Given the description of an element on the screen output the (x, y) to click on. 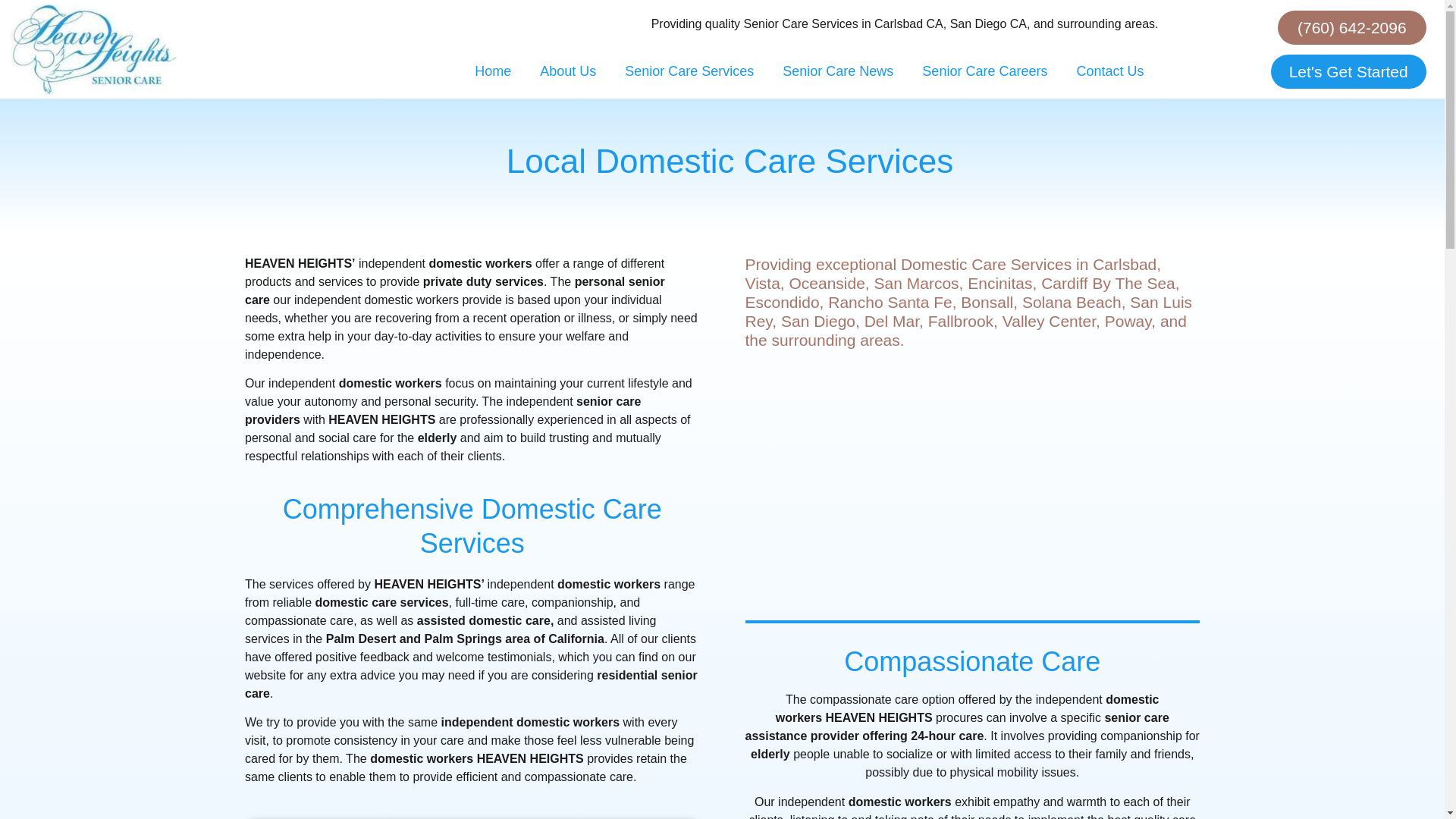
About Us (567, 70)
Let's Get Started (1348, 71)
Home (492, 70)
Senior Care Careers (984, 70)
Contact Us (1109, 70)
Senior Care Services (689, 70)
Senior Care News (837, 70)
